Given the description of an element on the screen output the (x, y) to click on. 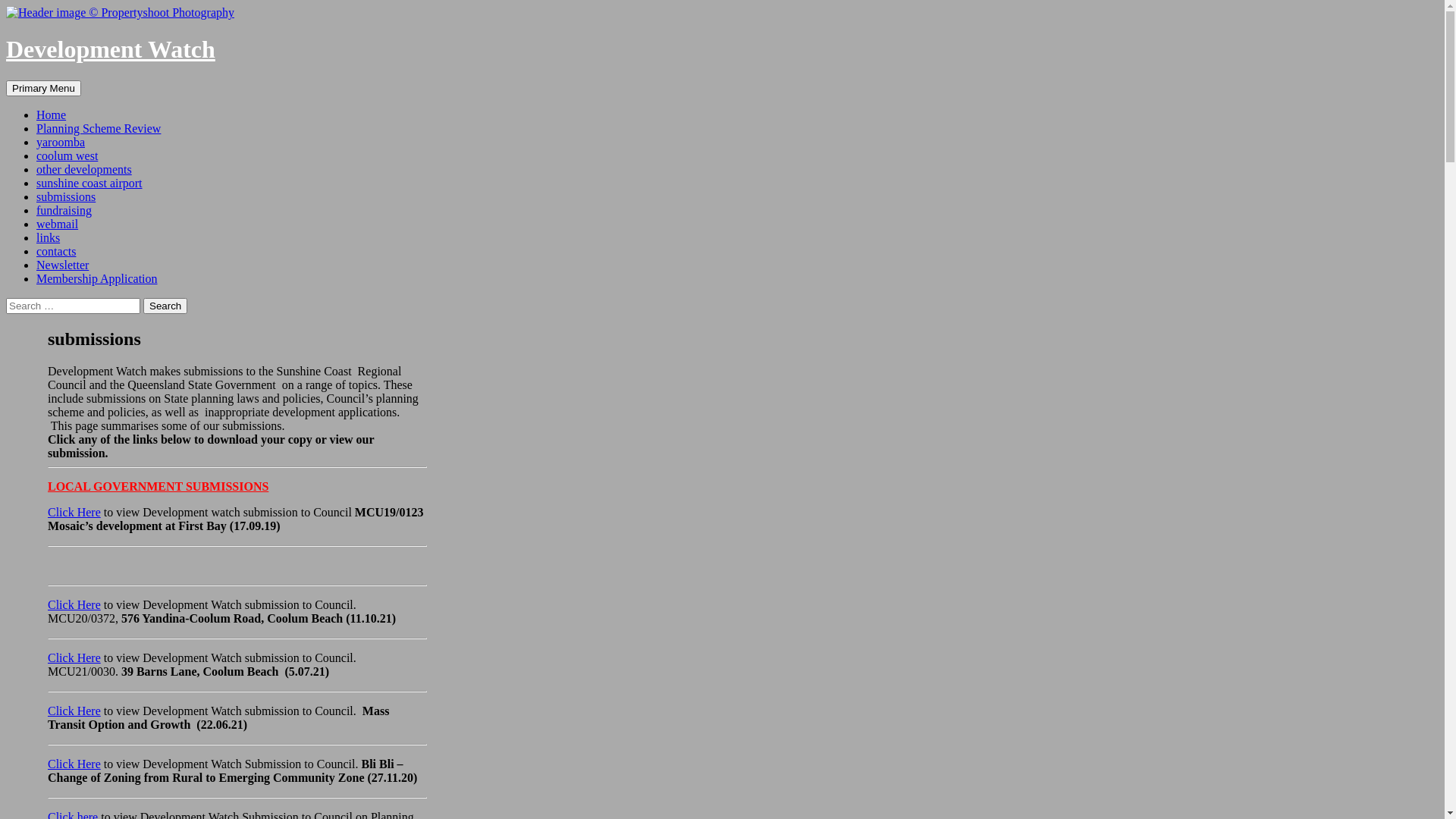
Click Here Element type: text (73, 604)
other developments Element type: text (83, 169)
Newsletter Element type: text (62, 264)
Search Element type: text (5, 79)
links Element type: text (47, 237)
submissions Element type: text (65, 196)
Skip to content Element type: text (80, 79)
Primary Menu Element type: text (43, 88)
fundraising Element type: text (63, 209)
Click Here Element type: text (73, 710)
Home Element type: text (50, 114)
Click Here Element type: text (73, 657)
Development Watch Element type: text (110, 48)
Planning Scheme Review Element type: text (98, 128)
contacts Element type: text (55, 250)
Page 1 Element type: hover (236, 558)
Search Element type: text (165, 305)
Membership Application Element type: text (96, 278)
coolum west Element type: text (66, 155)
Click Here Element type: text (73, 511)
yaroomba Element type: text (60, 141)
sunshine coast airport Element type: text (89, 182)
Click Here Element type: text (73, 763)
webmail Element type: text (57, 223)
